Given the description of an element on the screen output the (x, y) to click on. 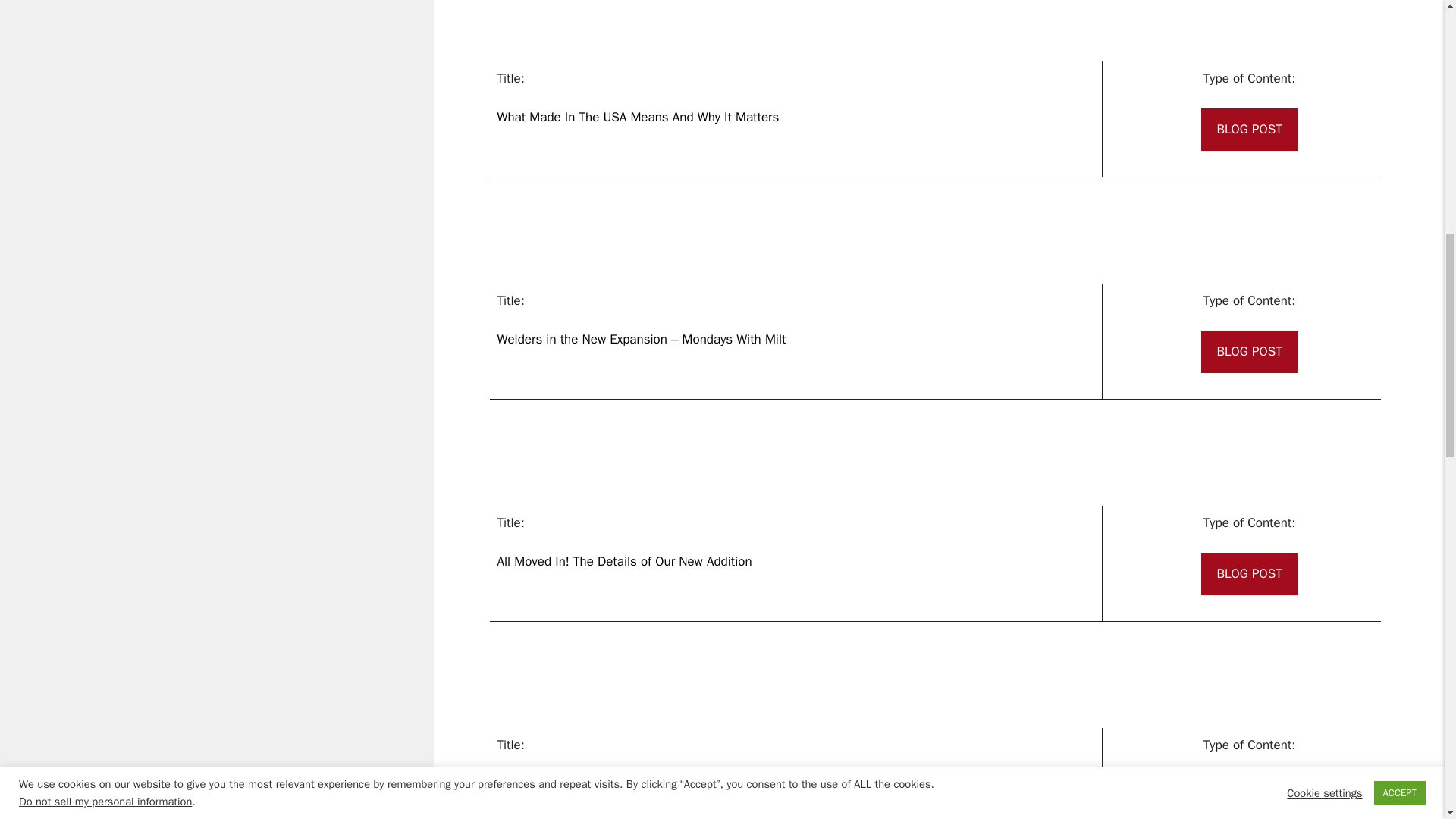
Scroll back to top (1406, 720)
